Given the description of an element on the screen output the (x, y) to click on. 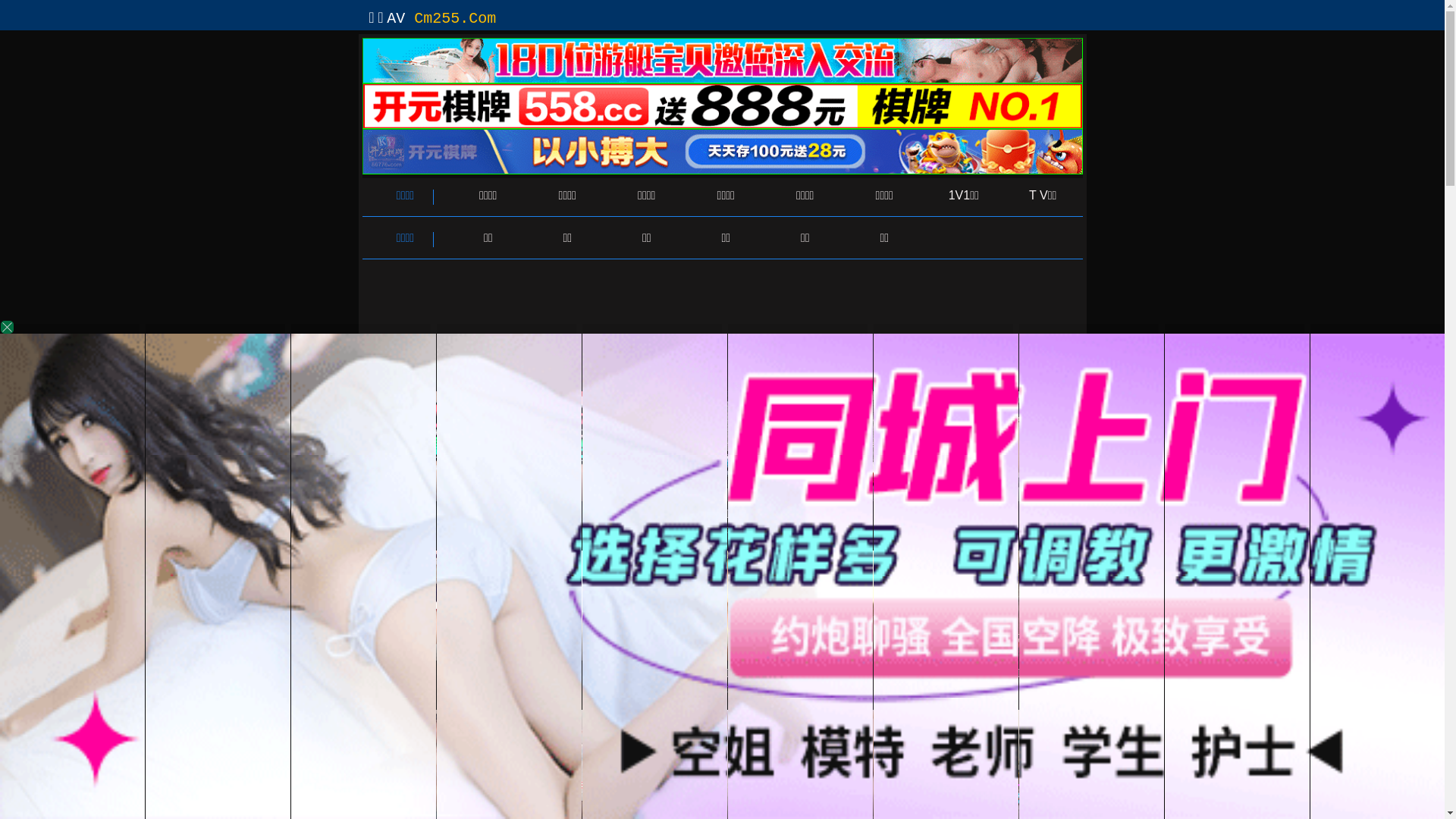
Cm255.Com Element type: text (454, 18)
